Given the description of an element on the screen output the (x, y) to click on. 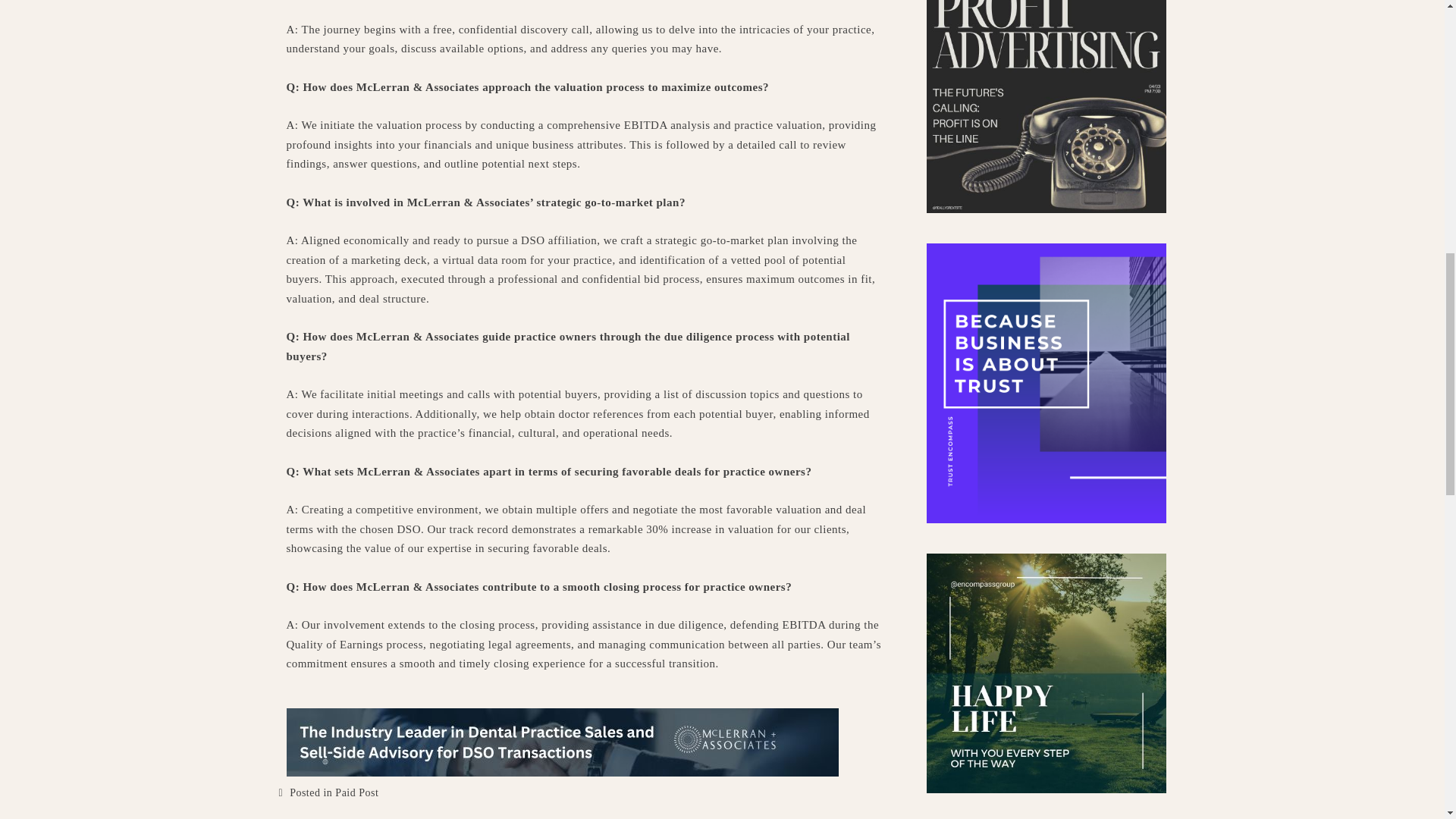
Paid Post (356, 792)
